Given the description of an element on the screen output the (x, y) to click on. 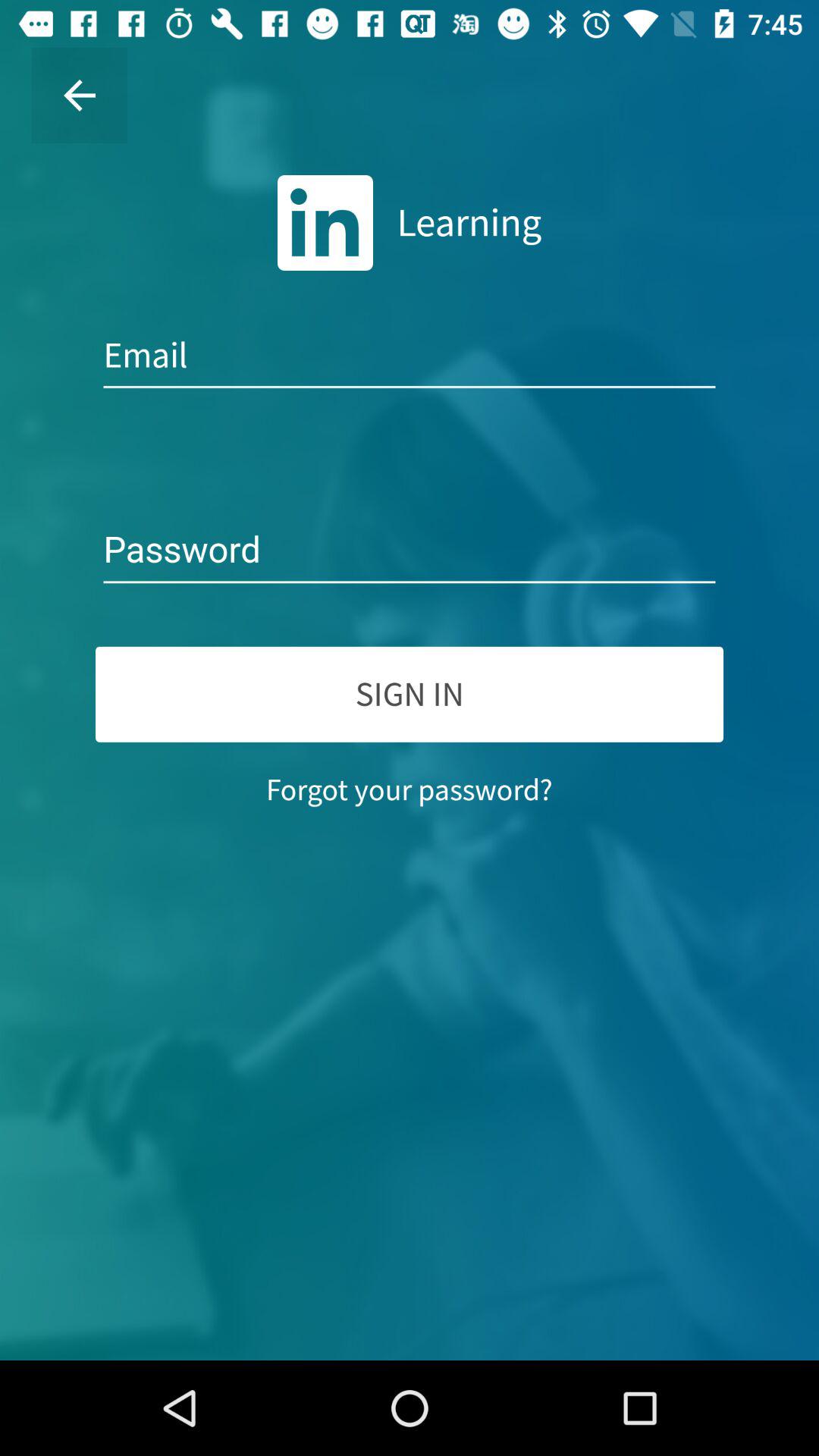
jump to sign in (409, 694)
